Given the description of an element on the screen output the (x, y) to click on. 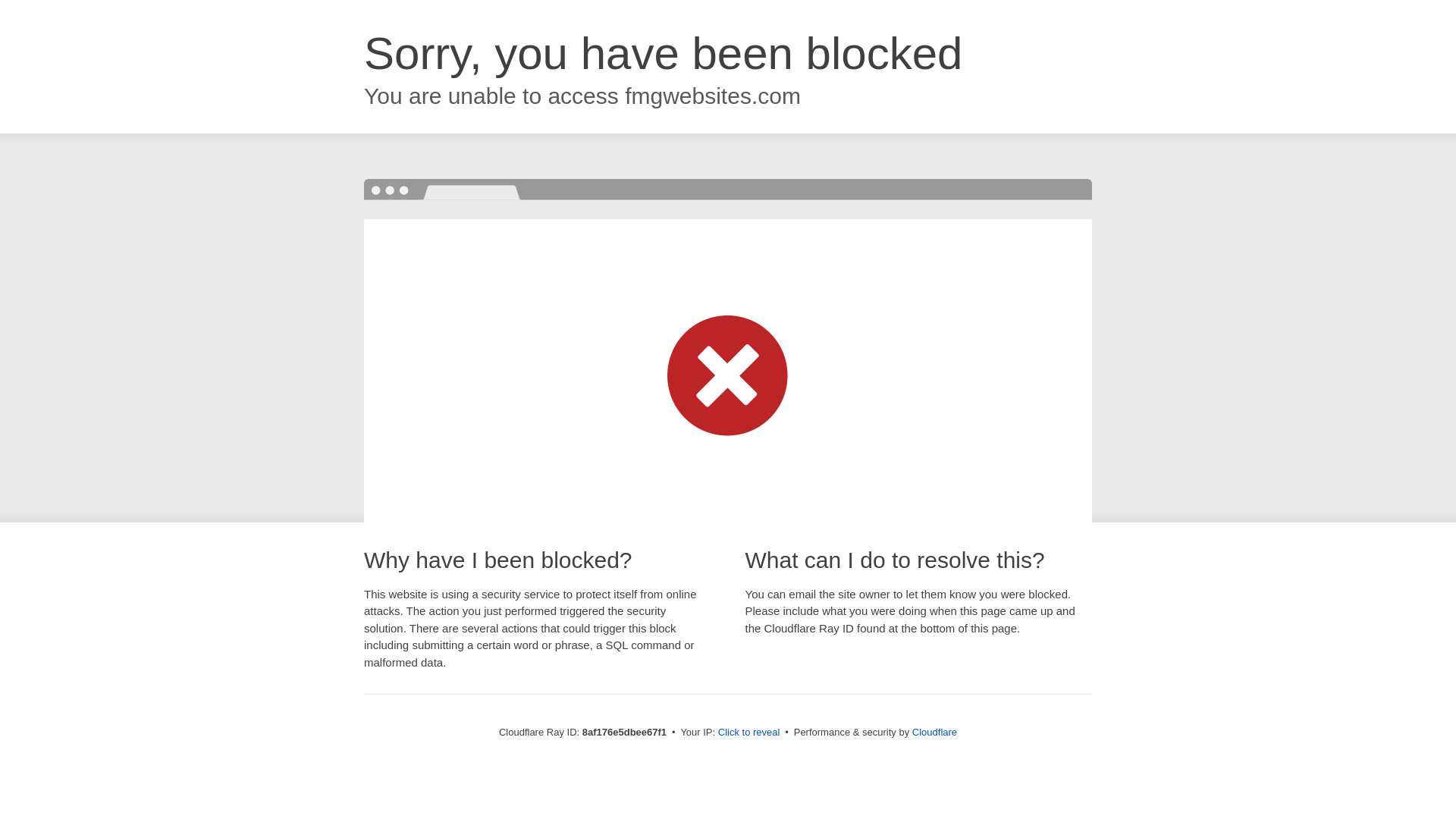
Click to reveal (748, 732)
Cloudflare (934, 731)
